Given the description of an element on the screen output the (x, y) to click on. 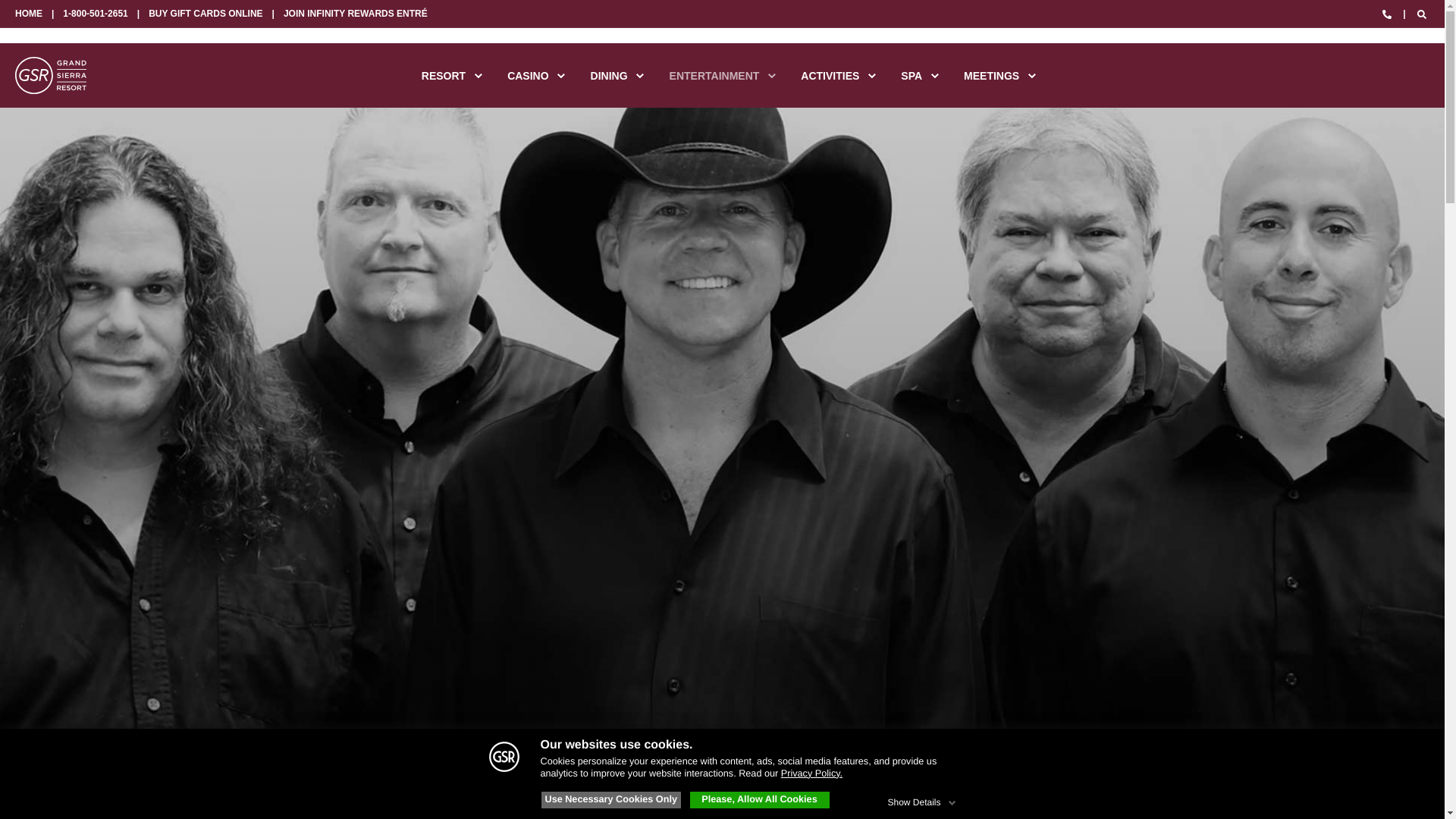
Privacy Policy. (811, 773)
Use Necessary Cookies Only (611, 799)
Show Details (922, 799)
Please, Allow All Cookies (759, 799)
